Given the description of an element on the screen output the (x, y) to click on. 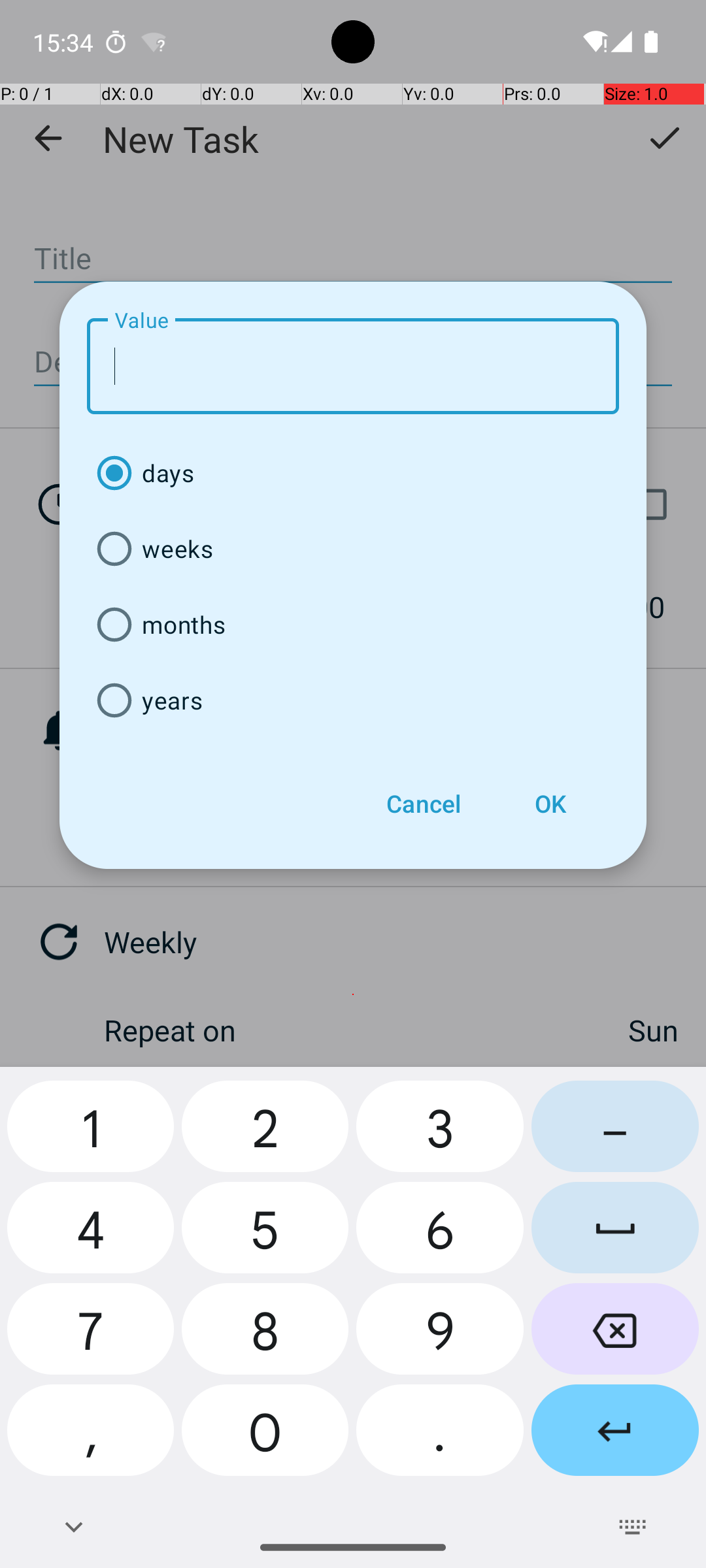
Value Element type: android.widget.EditText (352, 366)
days Element type: android.widget.RadioButton (352, 472)
weeks Element type: android.widget.RadioButton (352, 548)
months Element type: android.widget.RadioButton (352, 624)
years Element type: android.widget.RadioButton (352, 700)
